Given the description of an element on the screen output the (x, y) to click on. 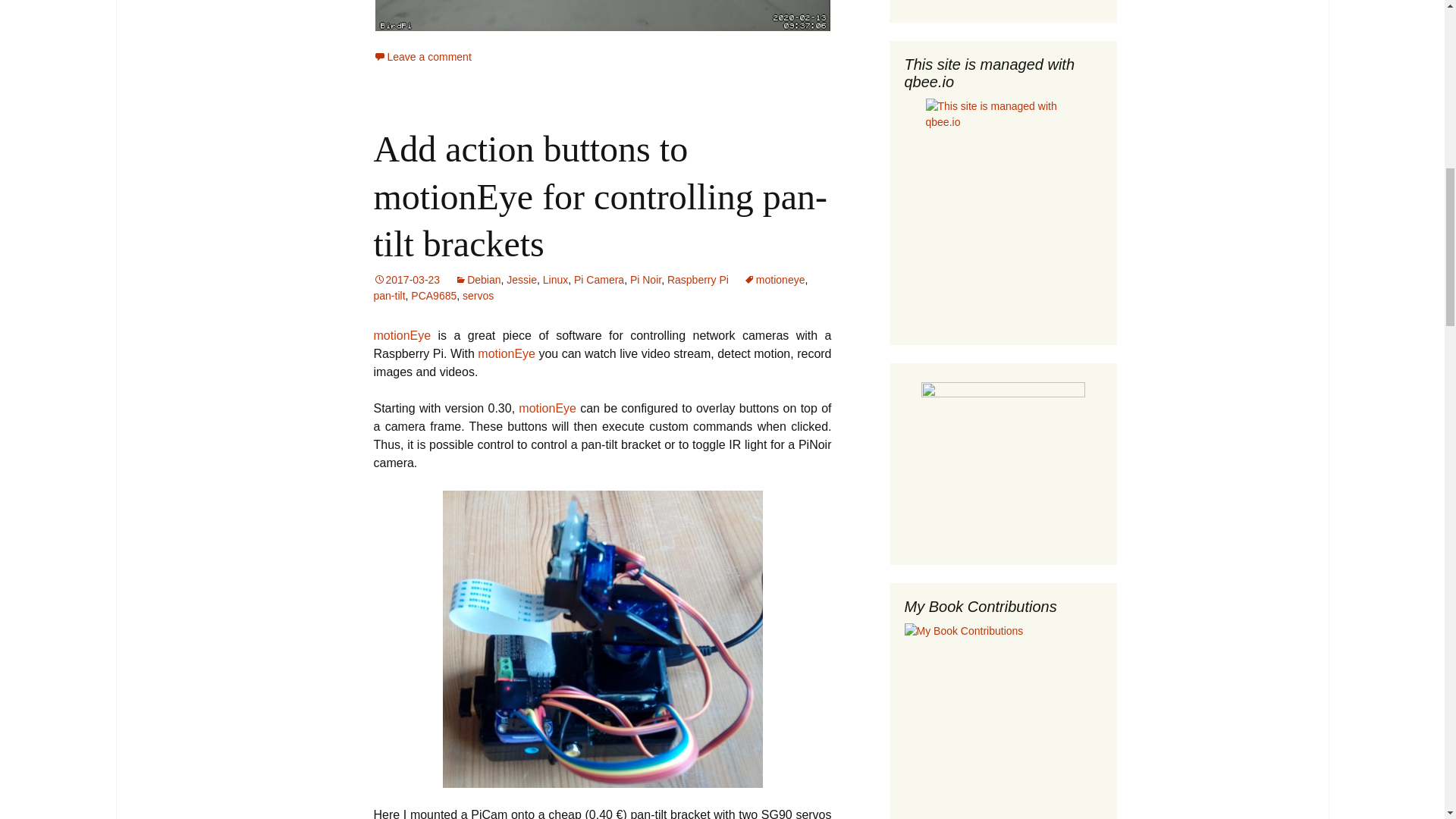
My Book Contributions (1002, 721)
